Given the description of an element on the screen output the (x, y) to click on. 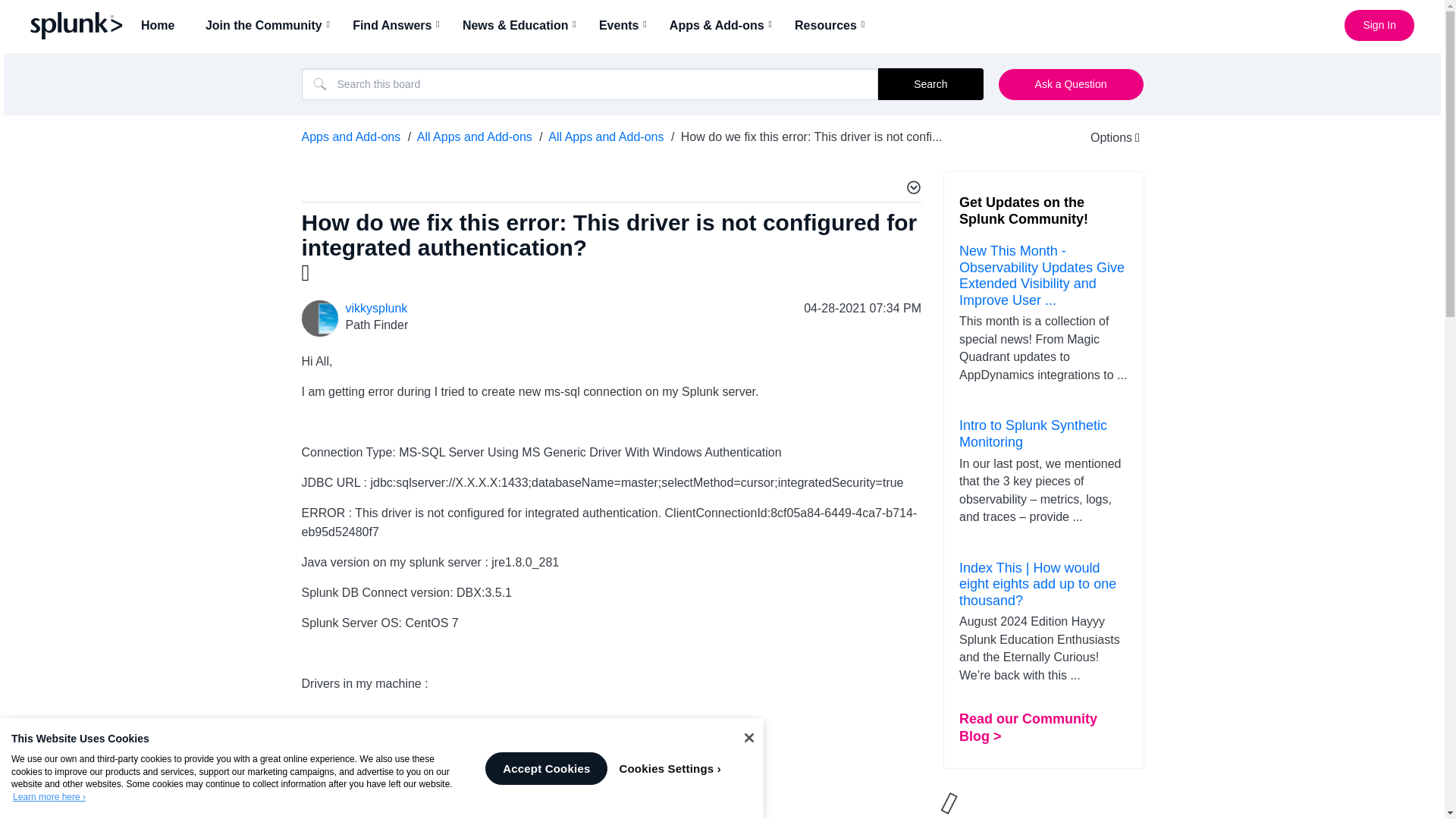
Find Answers (396, 25)
Search (929, 83)
Home (162, 25)
Search (929, 83)
Search (590, 83)
Show option menu (1105, 137)
Join the Community (268, 25)
